Given the description of an element on the screen output the (x, y) to click on. 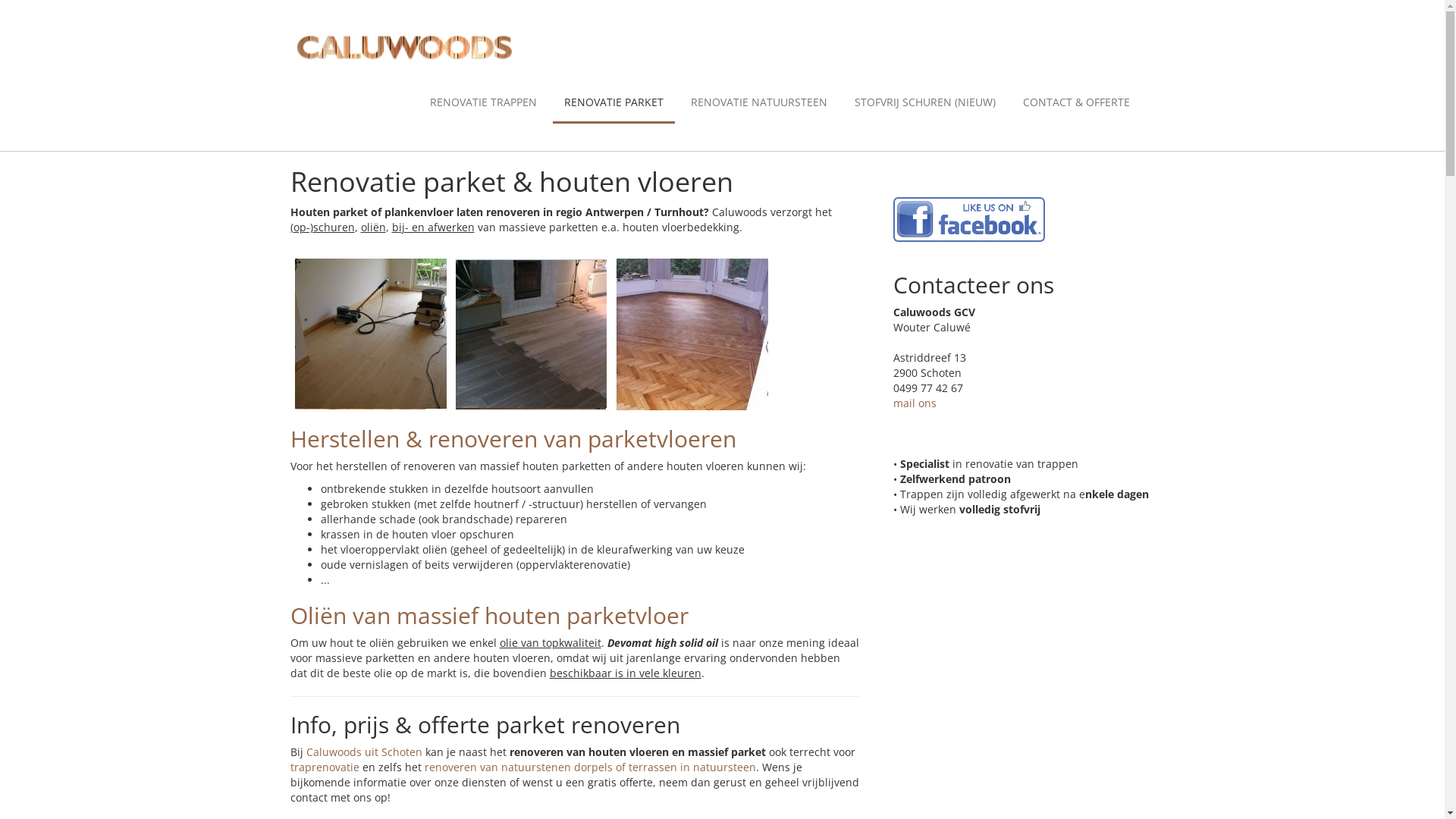
Herstellen & renoveren van parketvloeren Element type: text (512, 438)
RENOVATIE TRAPPEN Element type: text (483, 102)
RENOVATIE NATUURSTEEN Element type: text (758, 102)
Caluwoods uit Schoten Element type: text (364, 751)
CONTACT & OFFERTE Element type: text (1076, 102)
traprenovatie Element type: text (323, 766)
STOFVRIJ SCHUREN (NIEUW) Element type: text (925, 102)
mail ons Element type: text (914, 402)
RENOVATIE PARKET Element type: text (613, 103)
